Given the description of an element on the screen output the (x, y) to click on. 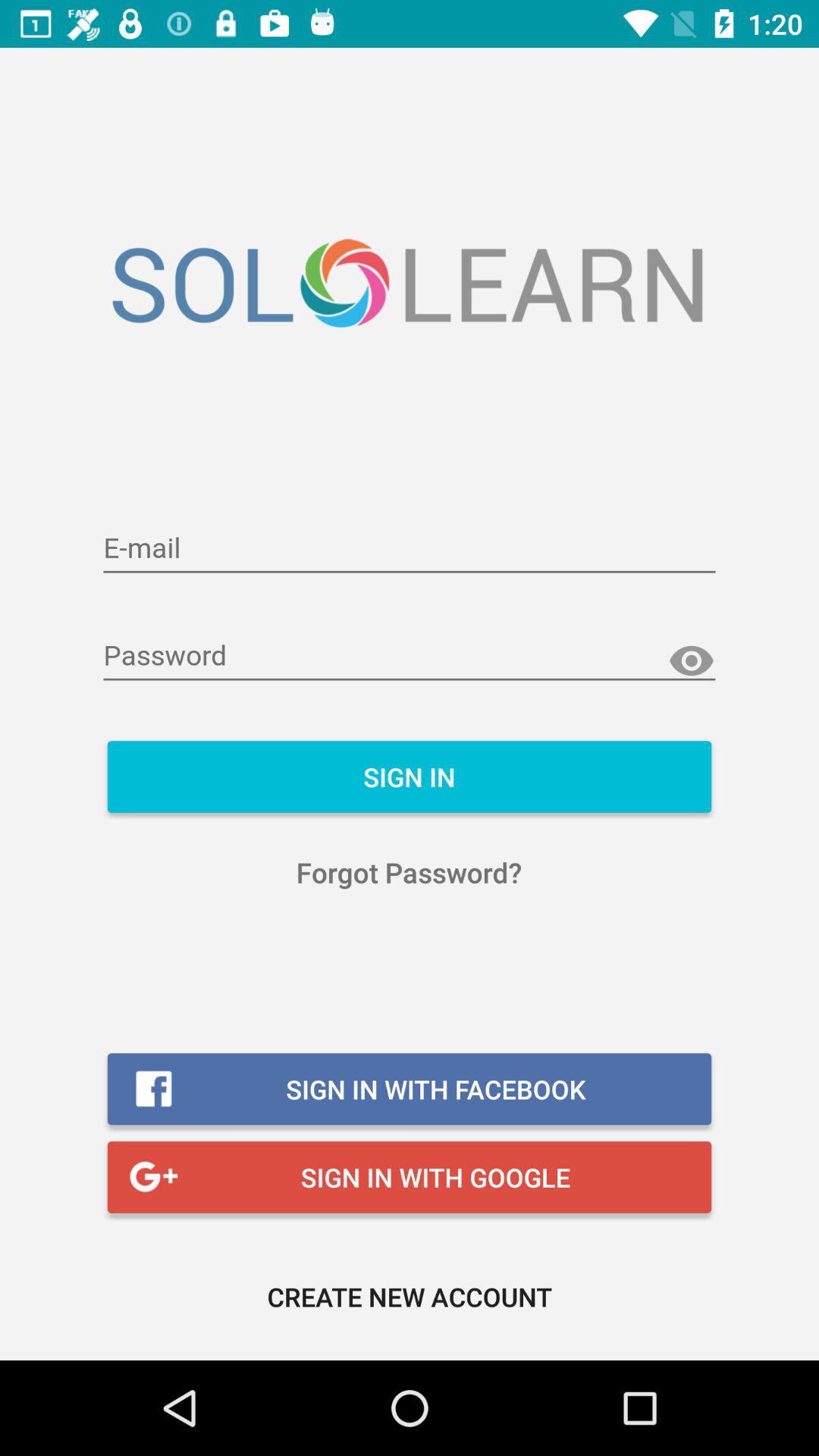
swipe to forgot password? item (409, 872)
